Given the description of an element on the screen output the (x, y) to click on. 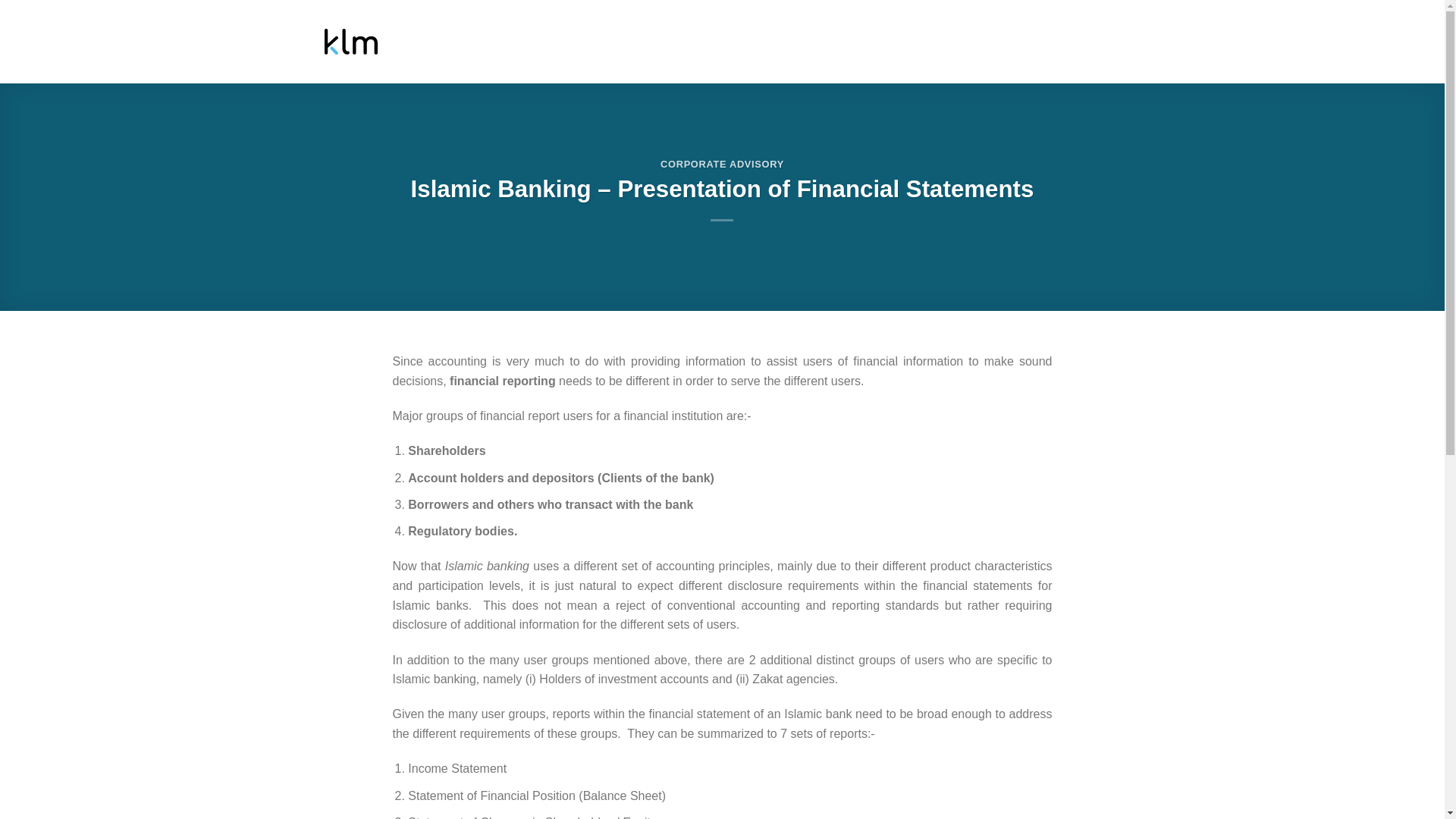
Home (624, 45)
Our Services (825, 45)
CORPORATE ADVISORY (722, 163)
About Us (710, 45)
Contact Us (1085, 45)
